Given the description of an element on the screen output the (x, y) to click on. 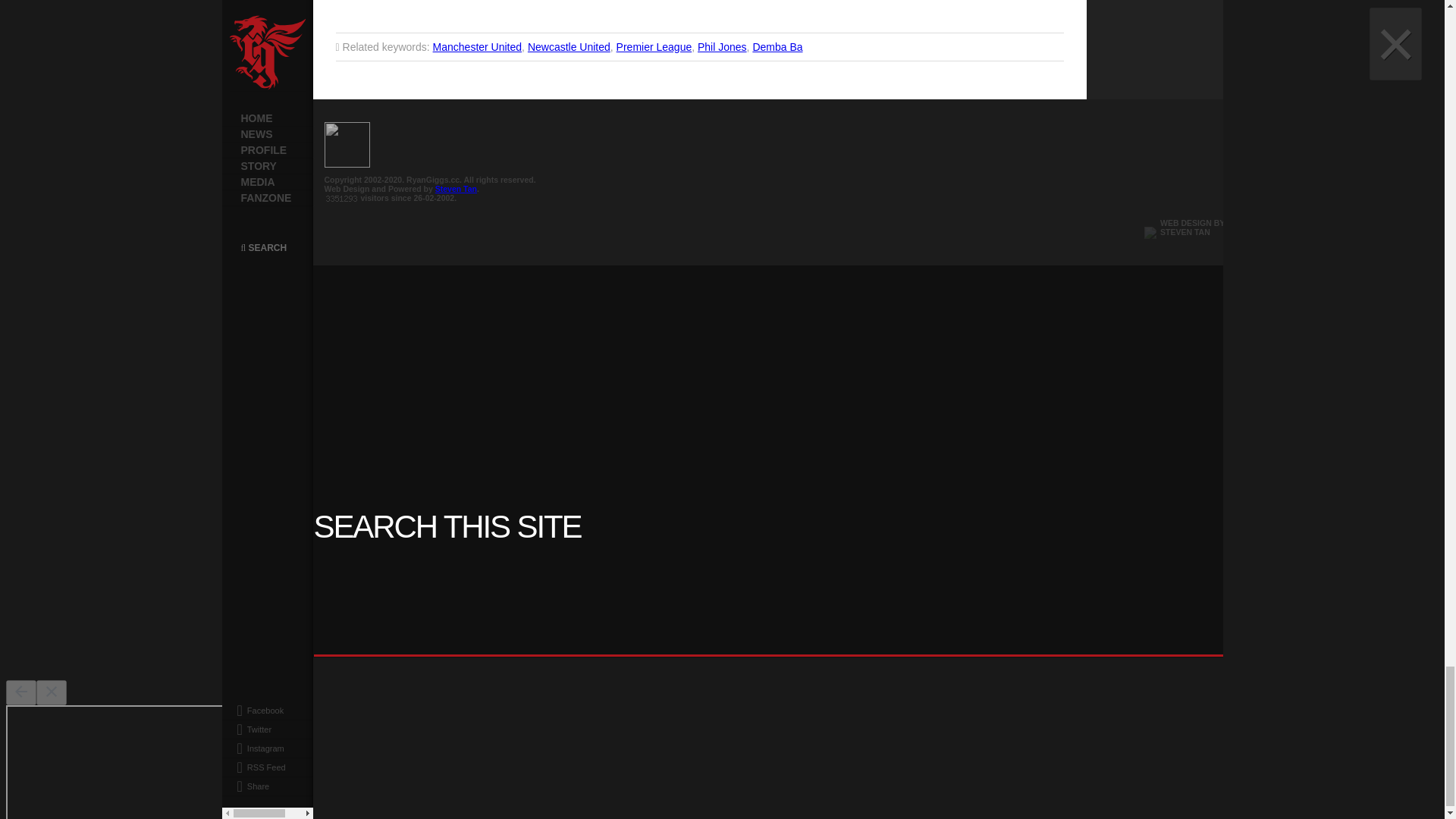
Newcastle United (568, 46)
Demba Ba (777, 46)
Premier League (654, 46)
Steven Tan Official Website (1182, 231)
Phil Jones (721, 46)
Enter the terms you wish to search for. (832, 621)
Manchester United (477, 46)
